Given the description of an element on the screen output the (x, y) to click on. 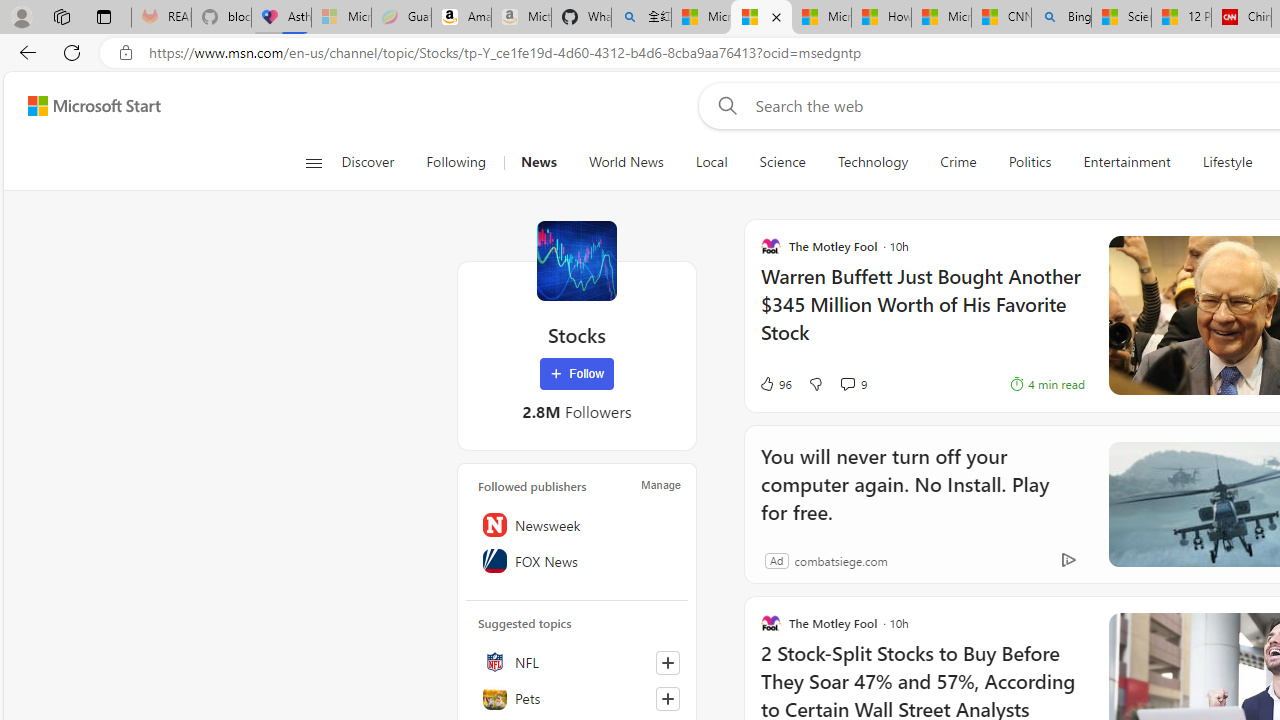
How I Got Rid of Microsoft Edge's Unnecessary Features (881, 17)
combatsiege.com (840, 560)
View comments 9 Comment (847, 383)
96 Like (775, 384)
Follow this topic (667, 698)
Stocks (576, 260)
